Given the description of an element on the screen output the (x, y) to click on. 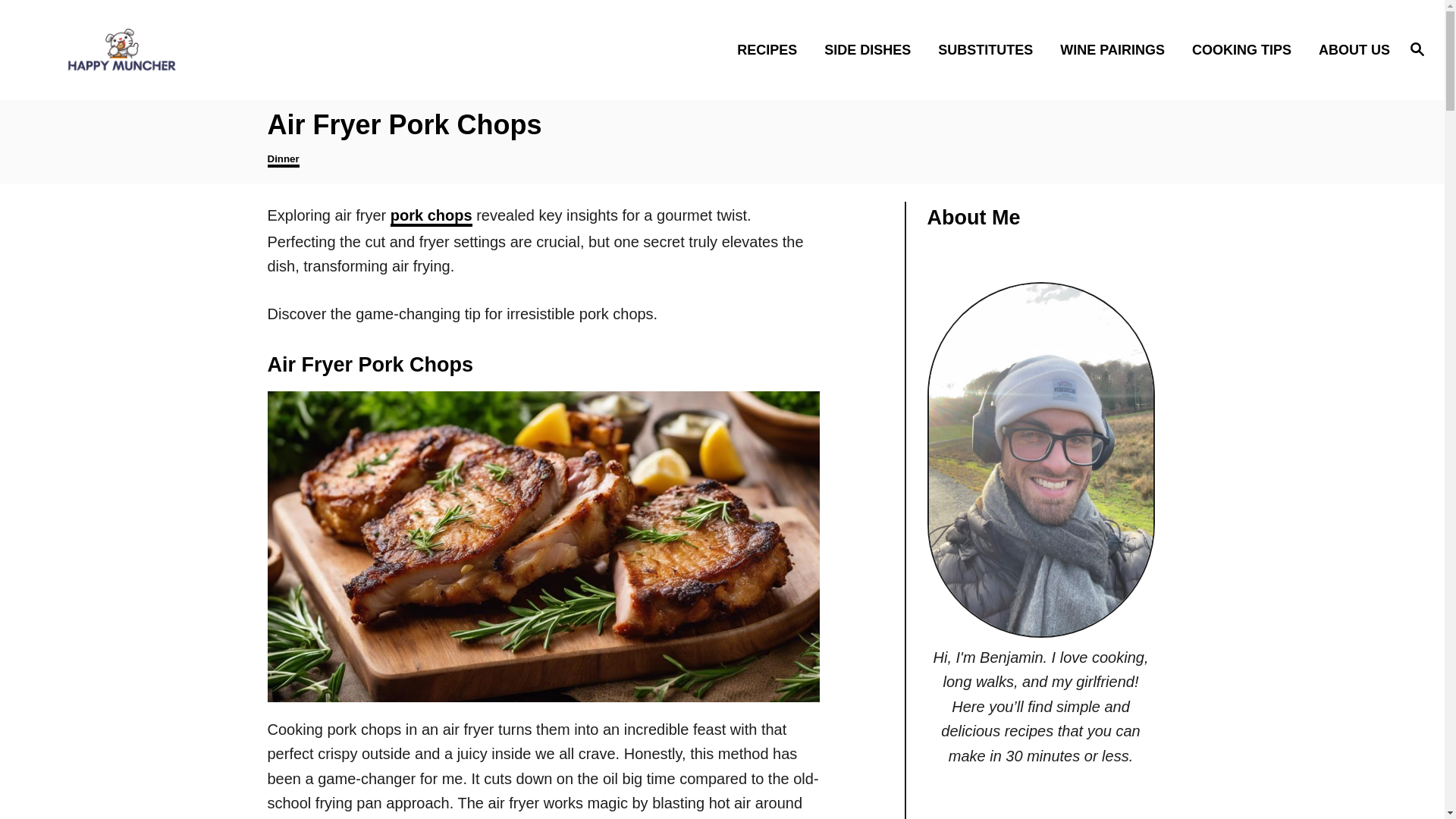
SUBSTITUTES (989, 49)
COOKING TIPS (1245, 49)
WINE PAIRINGS (1116, 49)
pork chops (430, 216)
SIDE DISHES (871, 49)
Dinner (282, 160)
RECIPES (771, 49)
pork chops (430, 216)
Magnifying Glass (1416, 48)
ABOUT US (1349, 49)
